Given the description of an element on the screen output the (x, y) to click on. 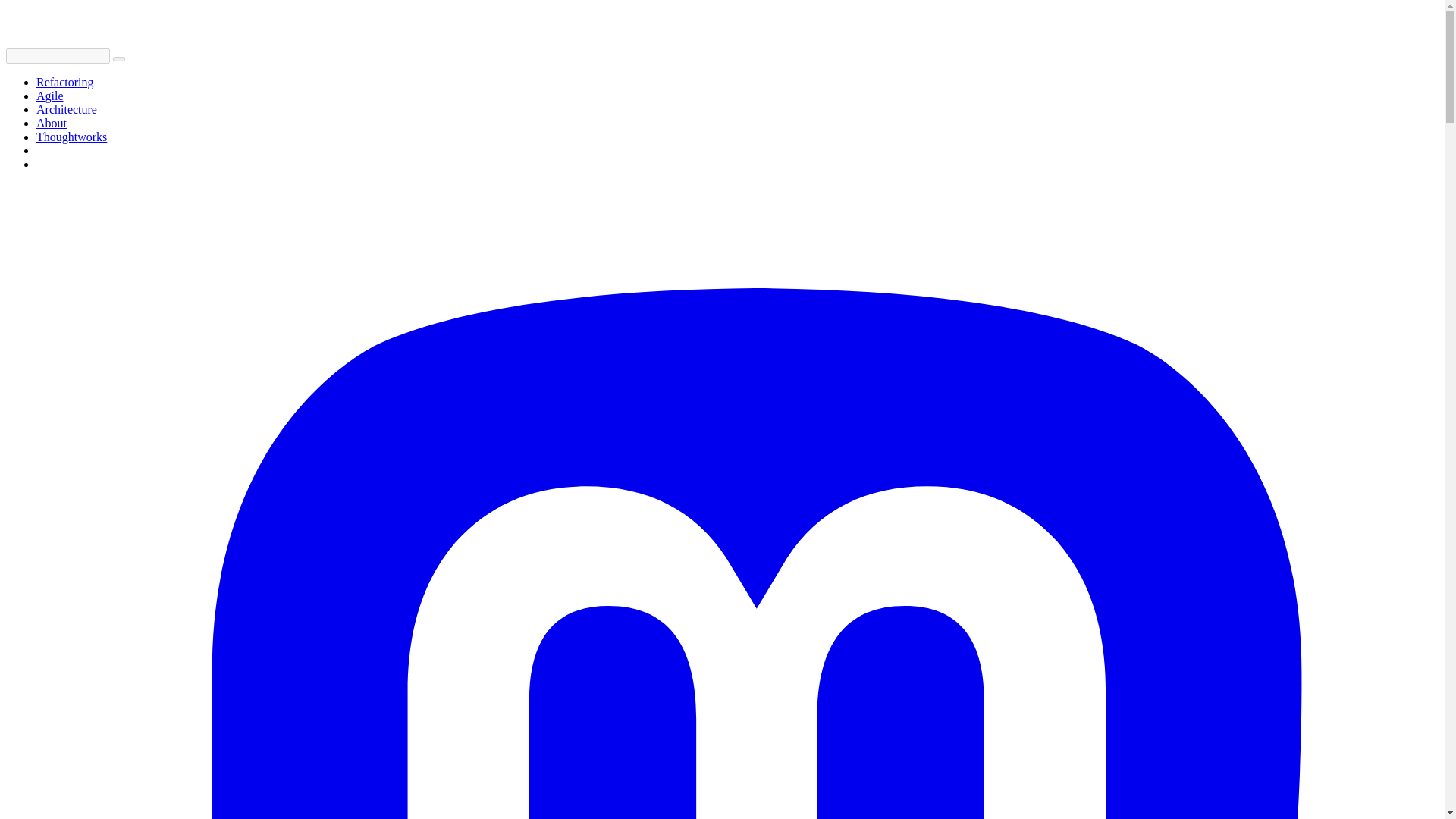
Thoughtworks (71, 136)
Architecture (66, 109)
About (51, 123)
Agile (50, 95)
Search (119, 58)
Refactoring (65, 82)
